Given the description of an element on the screen output the (x, y) to click on. 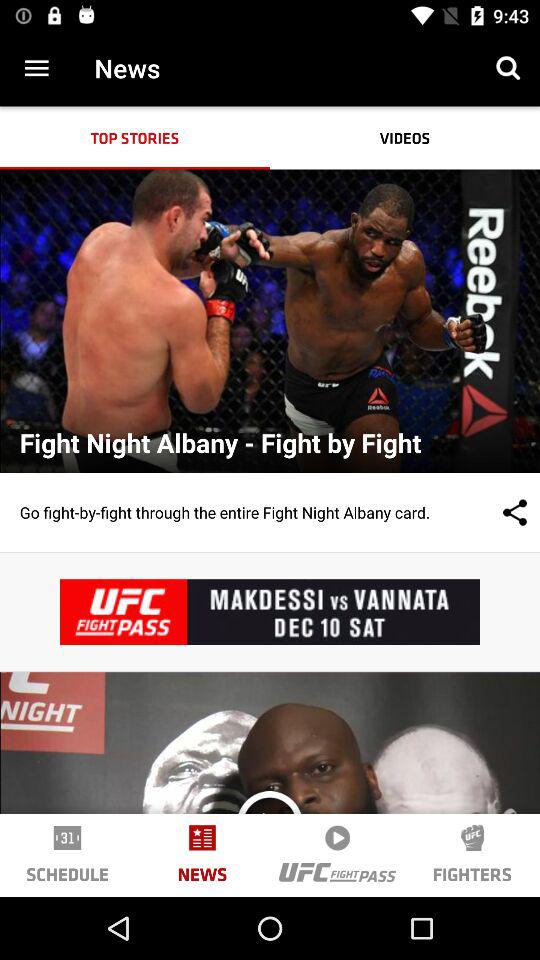
open main menu (36, 68)
